Given the description of an element on the screen output the (x, y) to click on. 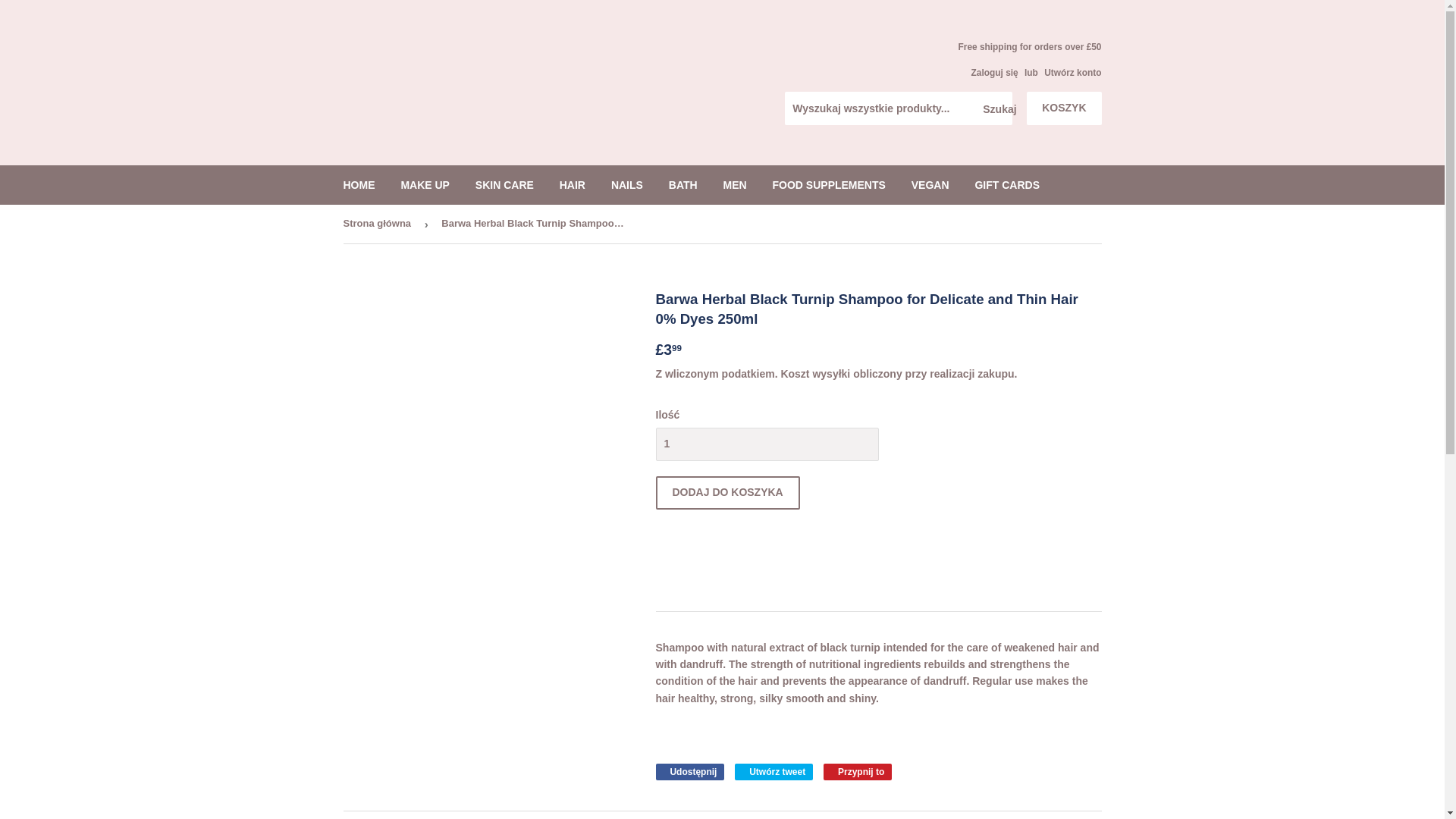
1 (766, 444)
Przypnij do tablicy Pinterest (857, 771)
KOSZYK (1063, 108)
Tweetuj na Twitterze (773, 771)
Szukaj (994, 109)
